Given the description of an element on the screen output the (x, y) to click on. 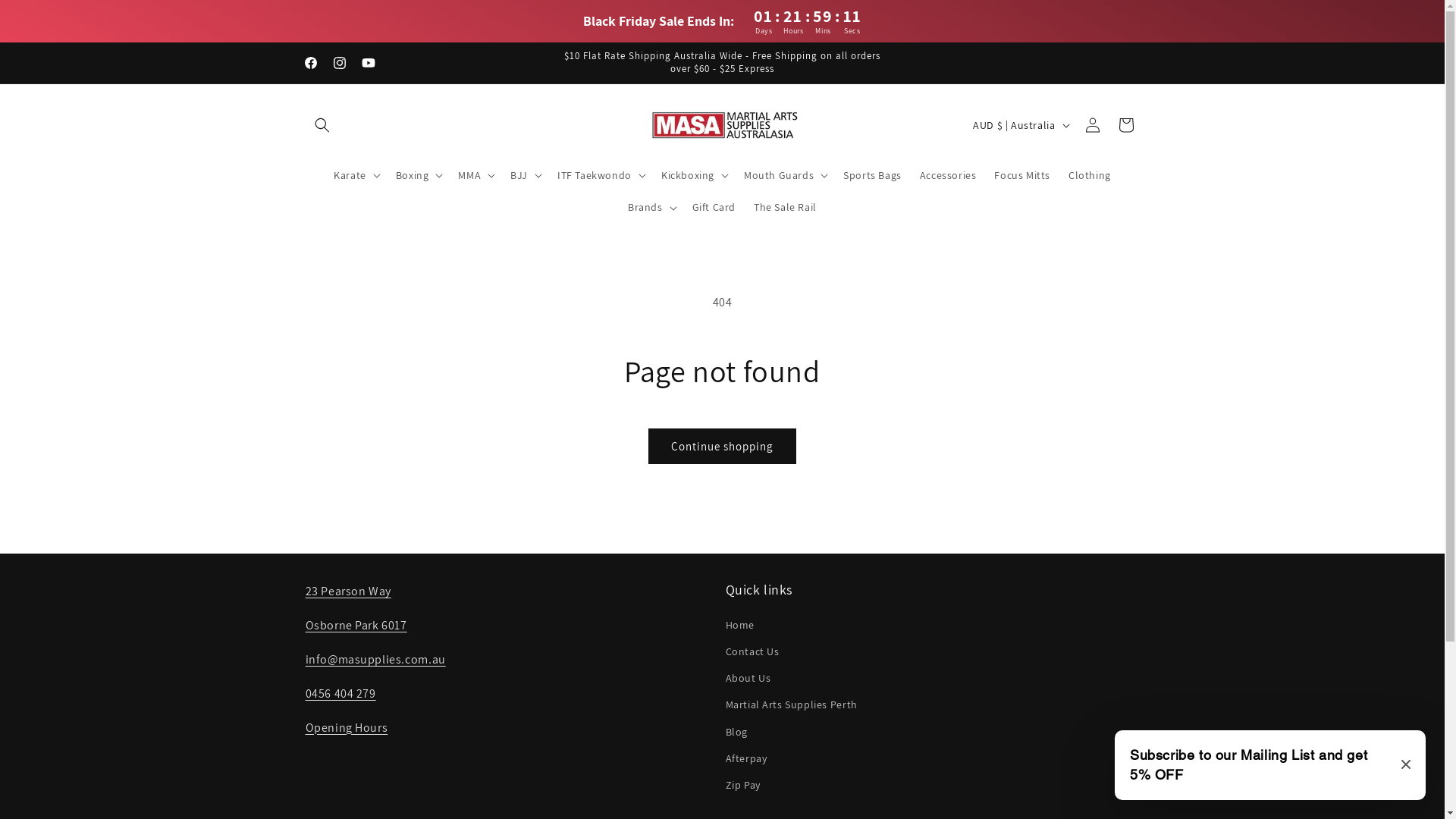
Contact Us Element type: text (751, 651)
Blog Element type: text (735, 731)
Instagram Element type: text (338, 62)
23 Pearson Way Element type: text (347, 591)
Martial Arts Supplies Perth Element type: text (790, 704)
Opening Hours Element type: text (345, 727)
Sports Bags Element type: text (872, 175)
About Us Element type: text (747, 678)
Focus Mitts Element type: text (1022, 175)
Gift Card Element type: text (713, 206)
info@masupplies.com.au Element type: text (374, 659)
Clothing Element type: text (1089, 175)
Facebook Element type: text (309, 62)
YouTube Element type: text (367, 62)
The Sale Rail Element type: text (784, 206)
Home Element type: text (738, 626)
Cart Element type: text (1125, 124)
Accessories Element type: text (947, 175)
Afterpay Element type: text (745, 758)
AUD $ | Australia Element type: text (1019, 124)
Continue shopping Element type: text (722, 446)
Zip Pay Element type: text (741, 784)
Osborne Park 6017 Element type: text (355, 625)
Log in Element type: text (1091, 124)
0456 404 279 Element type: text (339, 693)
